Given the description of an element on the screen output the (x, y) to click on. 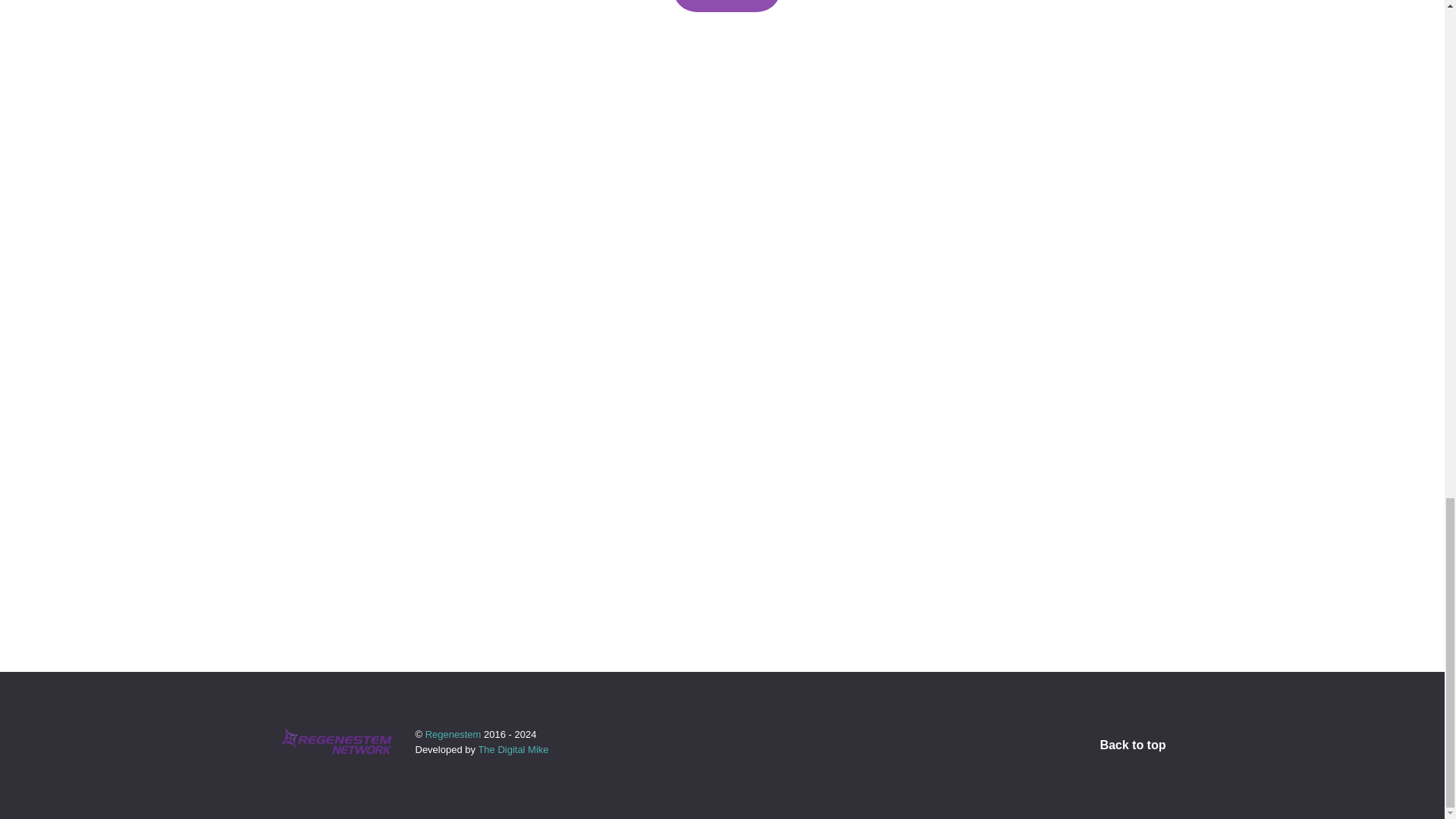
The Digital Mike (512, 749)
Back to top (1132, 744)
Regenestem (454, 734)
Know more (726, 6)
Back to top (1132, 744)
Regenestem (454, 734)
